Given the description of an element on the screen output the (x, y) to click on. 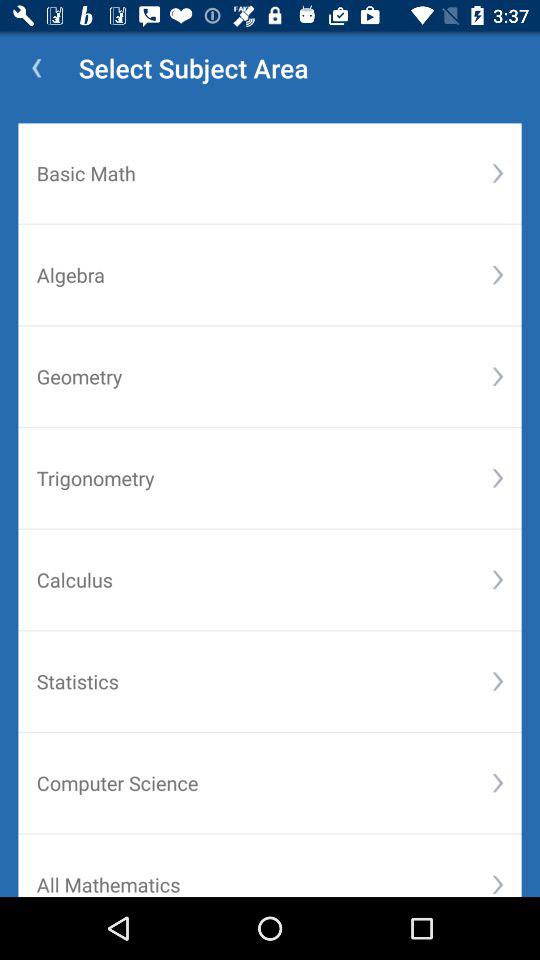
tap the icon below trigonometry (497, 579)
